Given the description of an element on the screen output the (x, y) to click on. 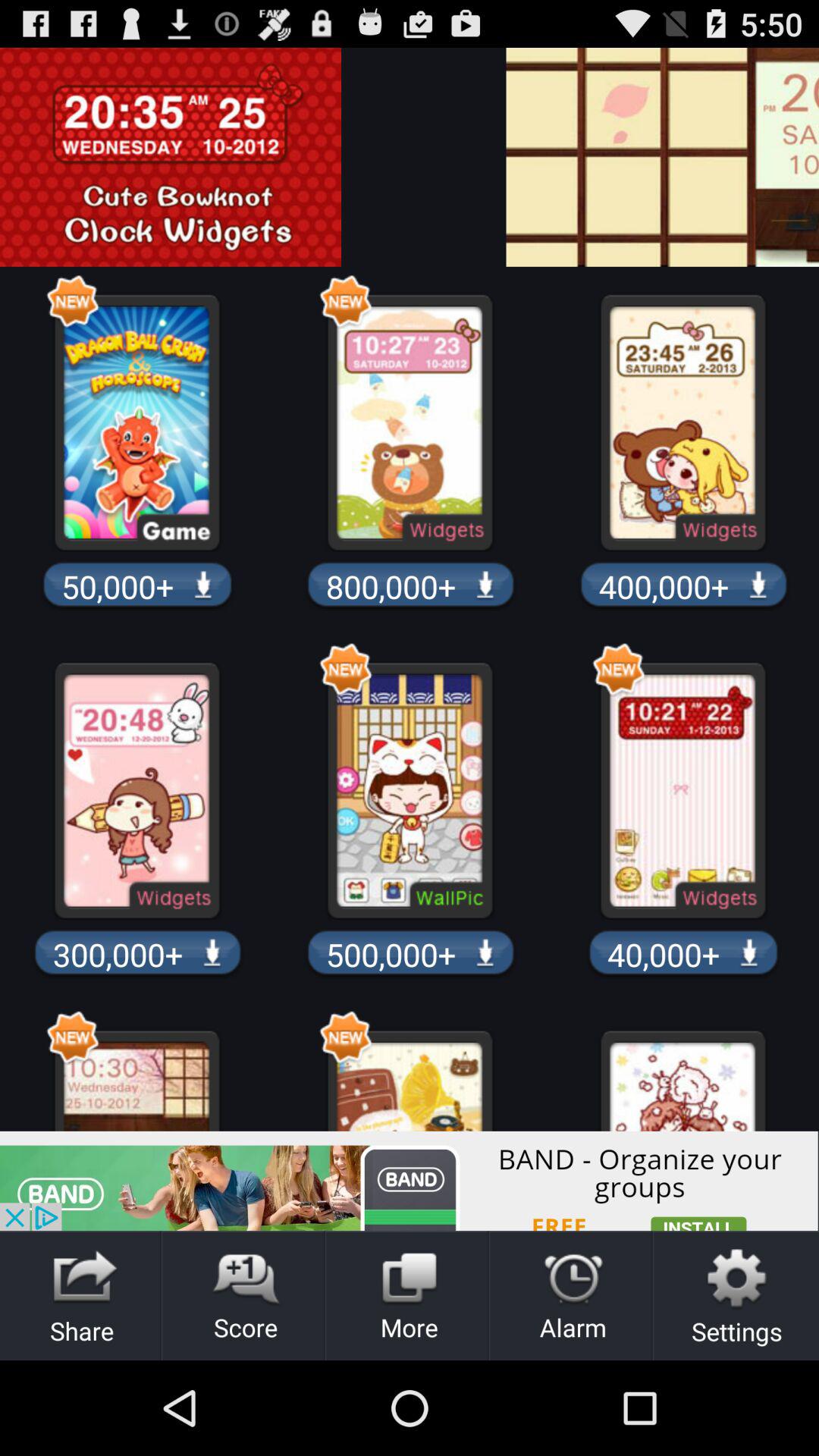
banner advertisement (409, 1180)
